Given the description of an element on the screen output the (x, y) to click on. 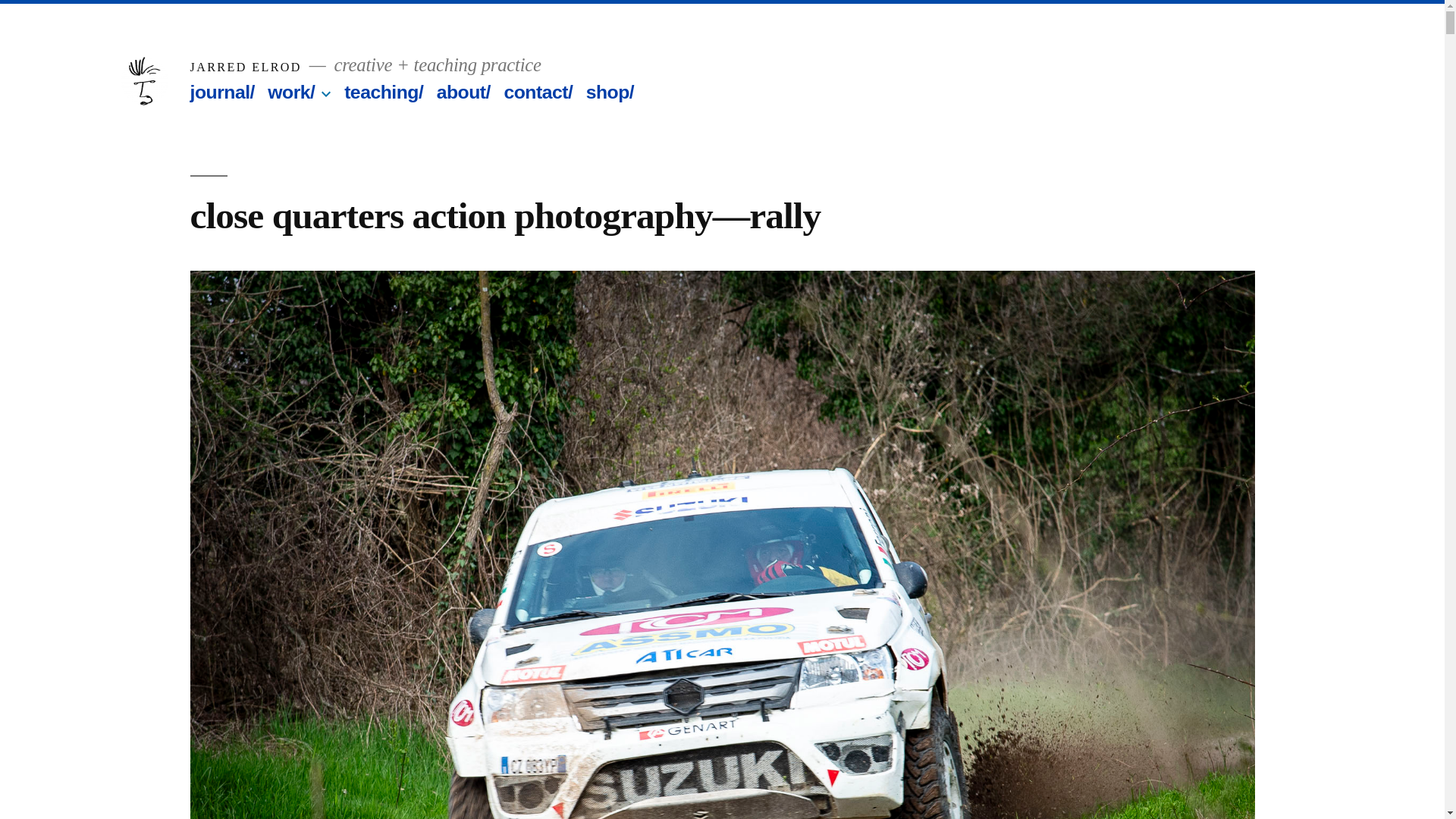
JARRED ELROD (245, 66)
